Given the description of an element on the screen output the (x, y) to click on. 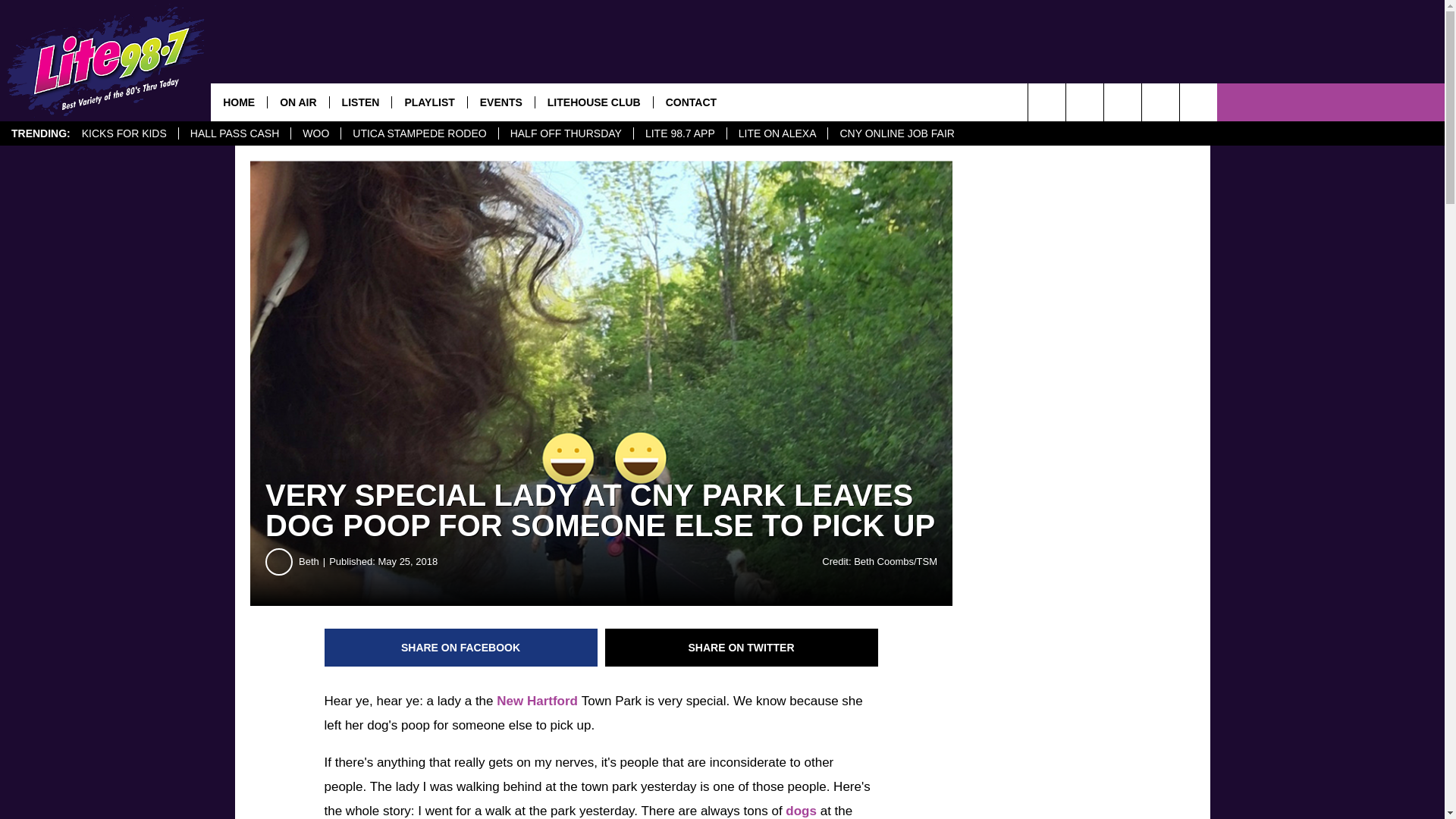
PLAYLIST (428, 102)
ON AIR (297, 102)
UTICA STAMPEDE RODEO (418, 133)
CNY ONLINE JOB FAIR (896, 133)
WOO (314, 133)
LITE ON ALEXA (777, 133)
HALF OFF THURSDAY (565, 133)
Share on Twitter (741, 647)
Share on Facebook (460, 647)
CONTACT (690, 102)
